Given the description of an element on the screen output the (x, y) to click on. 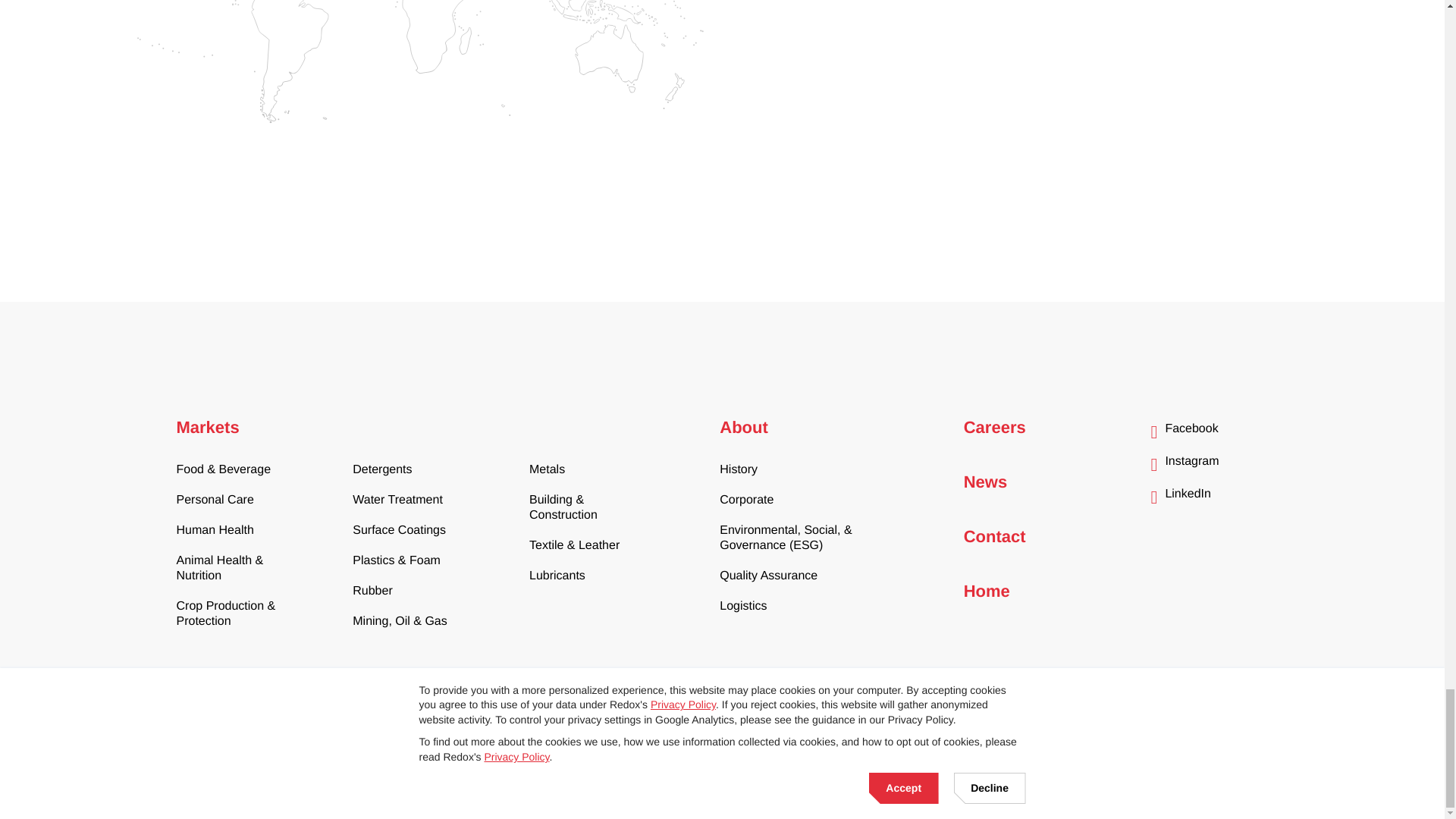
Redox Homepage (236, 697)
